Given the description of an element on the screen output the (x, y) to click on. 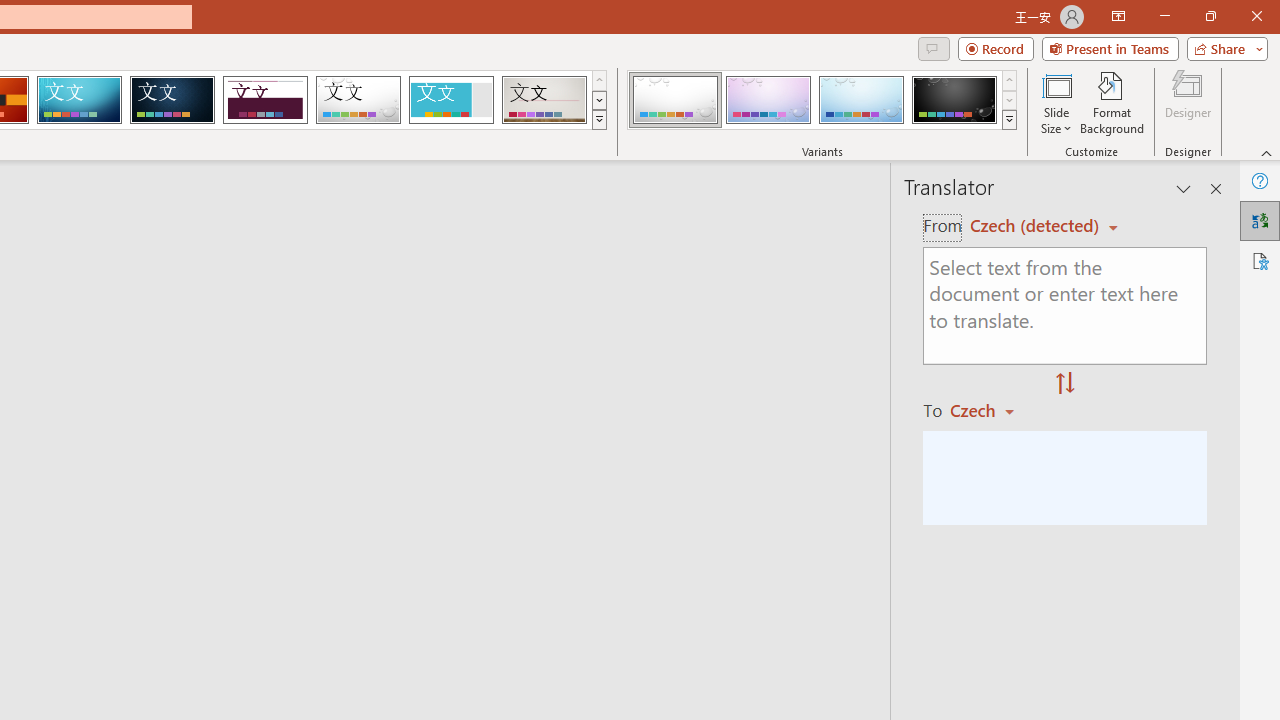
Damask (171, 100)
Droplet Variant 2 (768, 100)
